Given the description of an element on the screen output the (x, y) to click on. 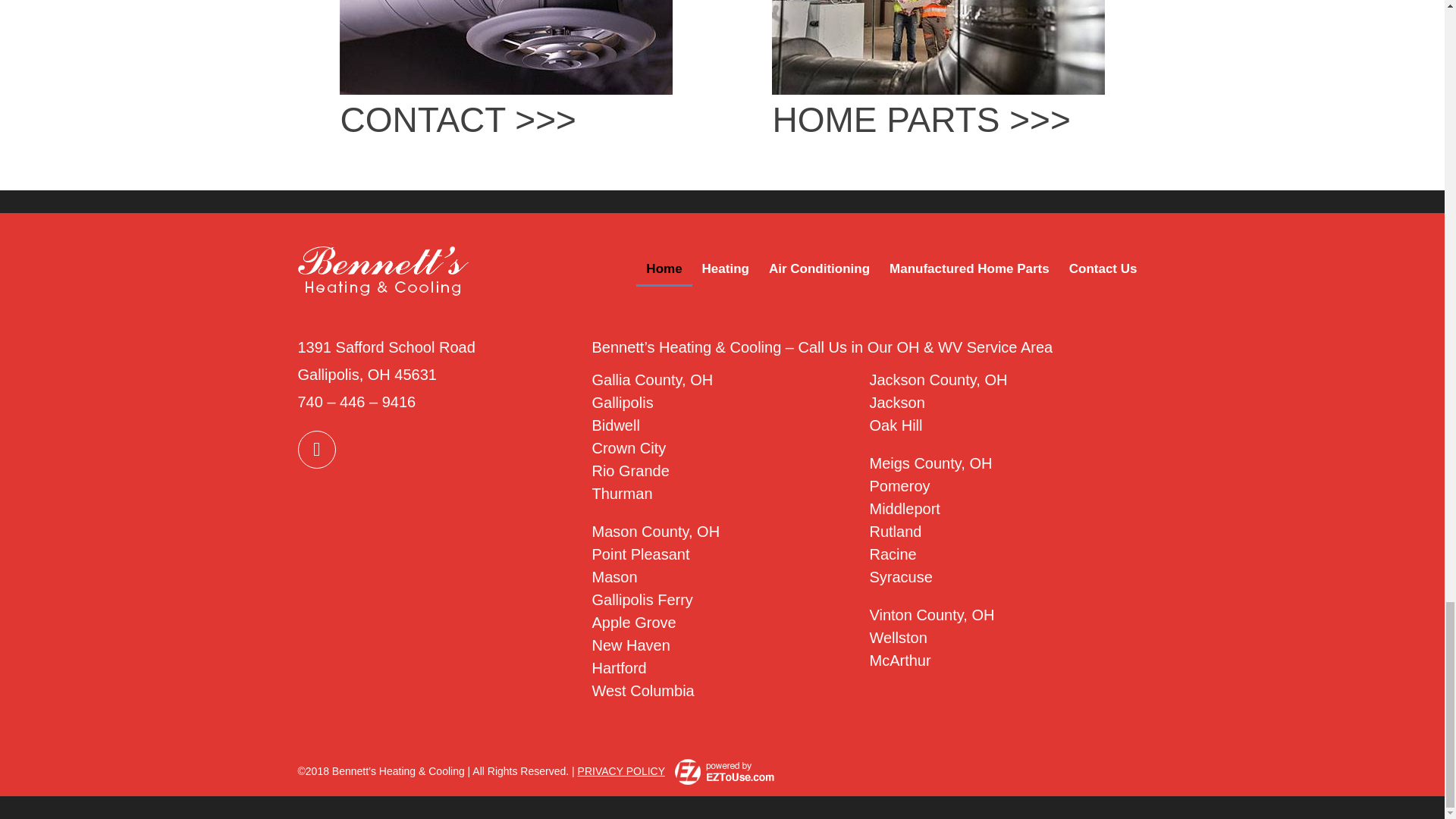
Home (663, 268)
Manufactured Home Parts (969, 268)
Air Conditioning (818, 268)
Heating (725, 268)
Contact Us (1103, 268)
